Given the description of an element on the screen output the (x, y) to click on. 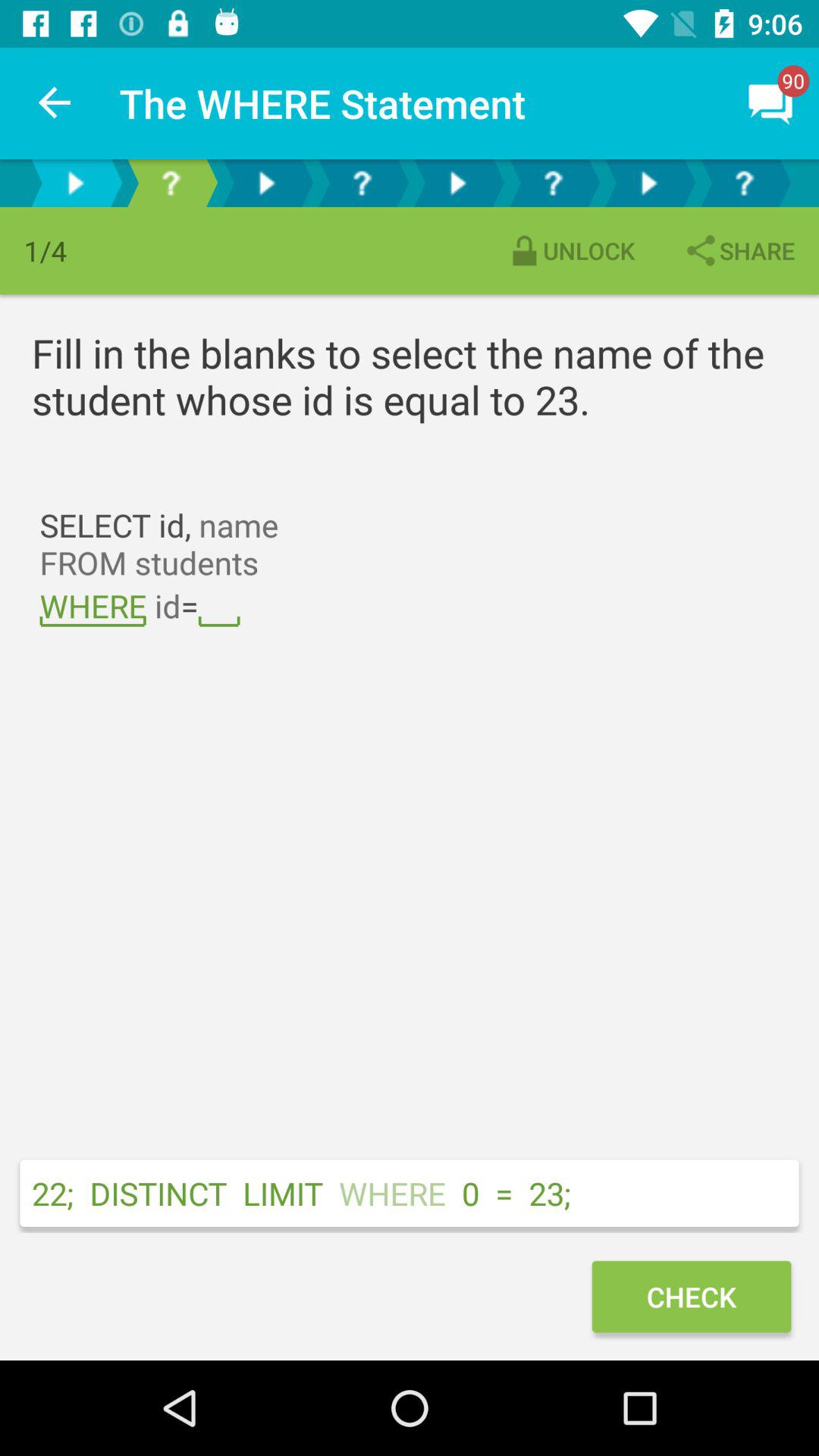
turn off the item next to the unlock item (738, 250)
